Given the description of an element on the screen output the (x, y) to click on. 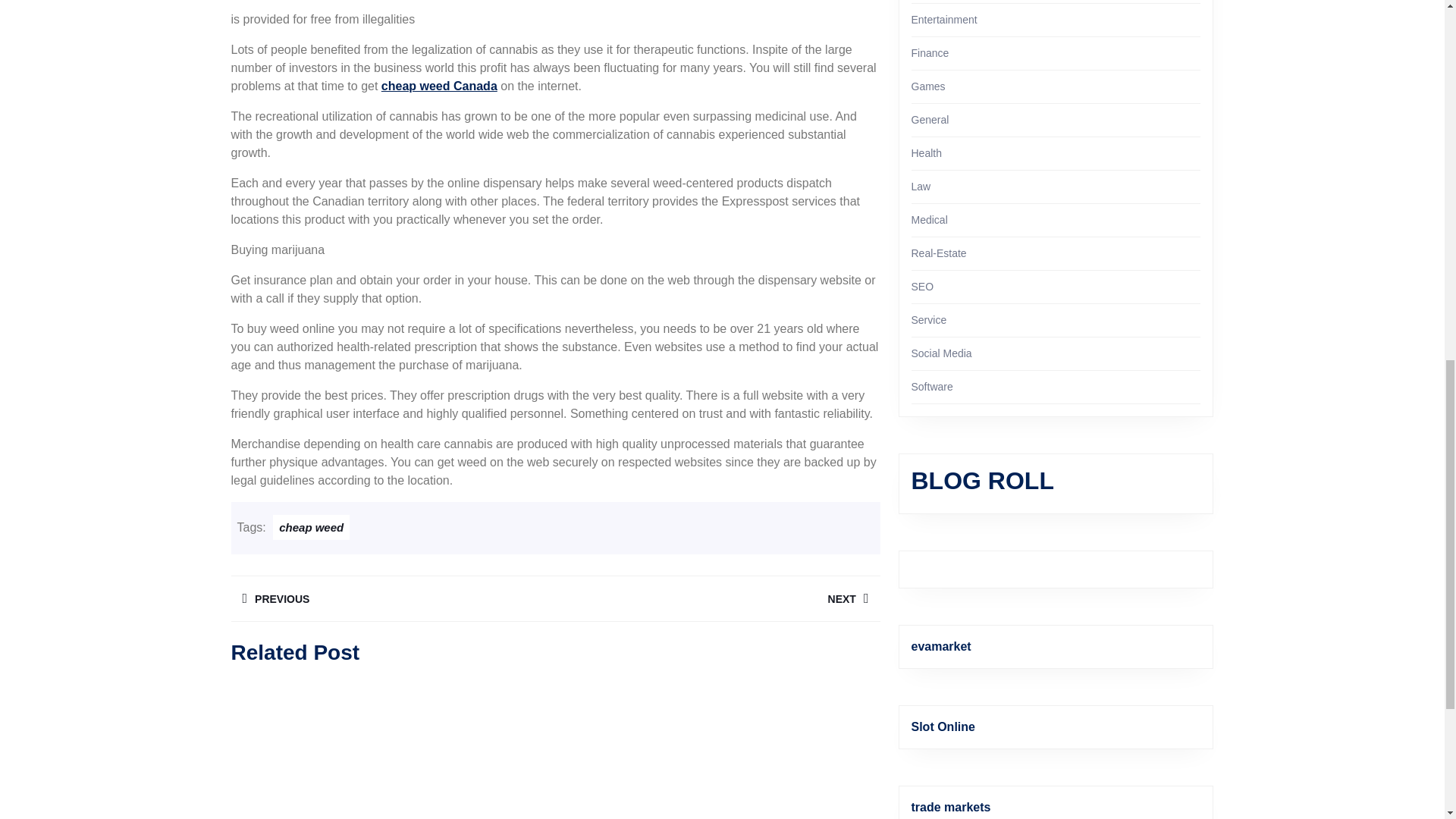
cheap weed (311, 527)
cheap weed Canada (439, 85)
Health (926, 152)
Law (716, 598)
General (921, 186)
Entertainment (392, 598)
Games (930, 119)
Finance (943, 19)
